Given the description of an element on the screen output the (x, y) to click on. 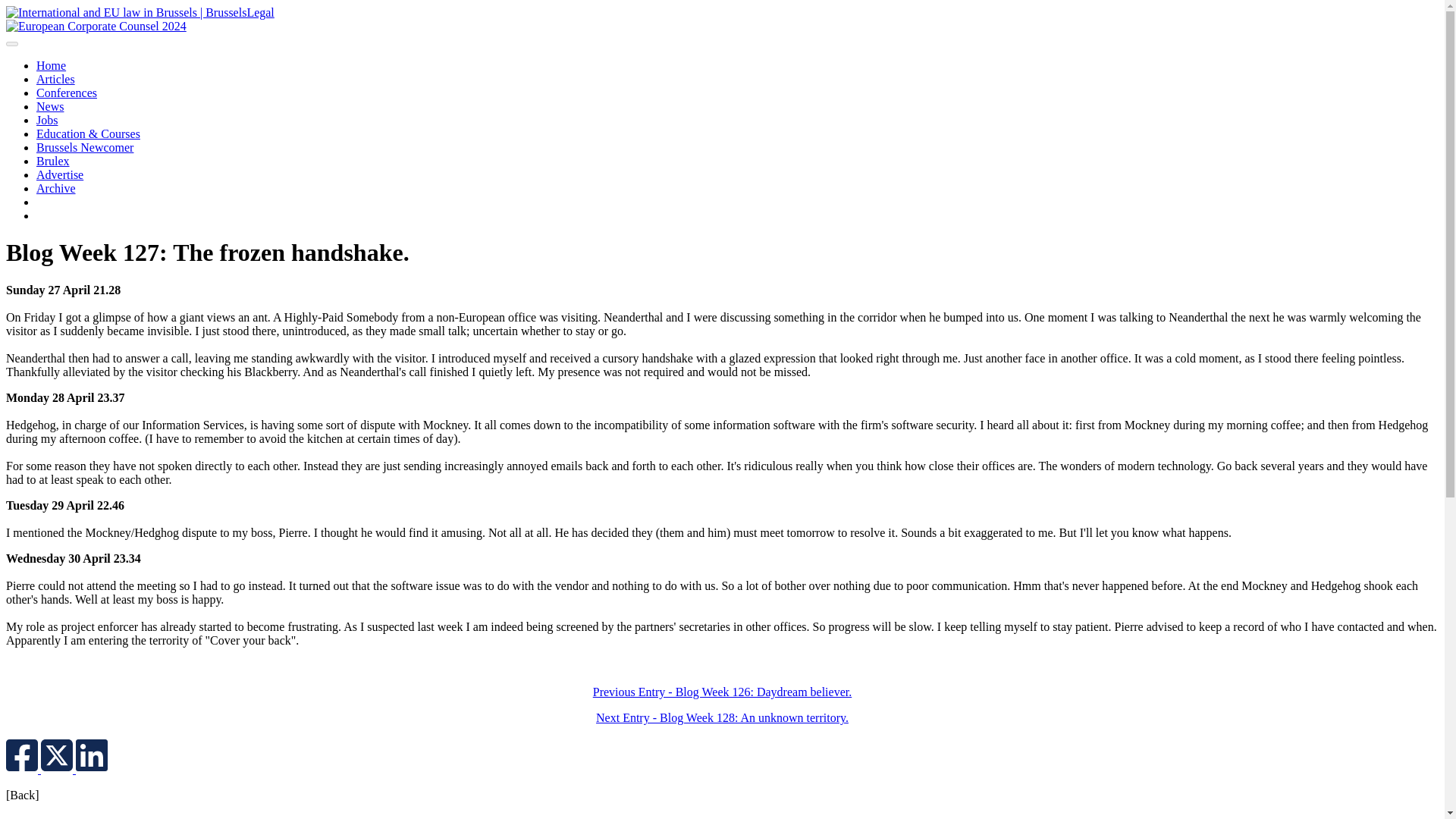
Conferences (66, 92)
Next Entry - Blog Week 128: An unknown territory. (721, 717)
Brulex (52, 160)
Share on Twitter (57, 768)
Contact Us (63, 215)
Share on Linked In (91, 768)
Previous Entry - Blog Week 126: Daydream believer. (721, 691)
Jobs (47, 119)
About Us (59, 201)
News (50, 106)
